Given the description of an element on the screen output the (x, y) to click on. 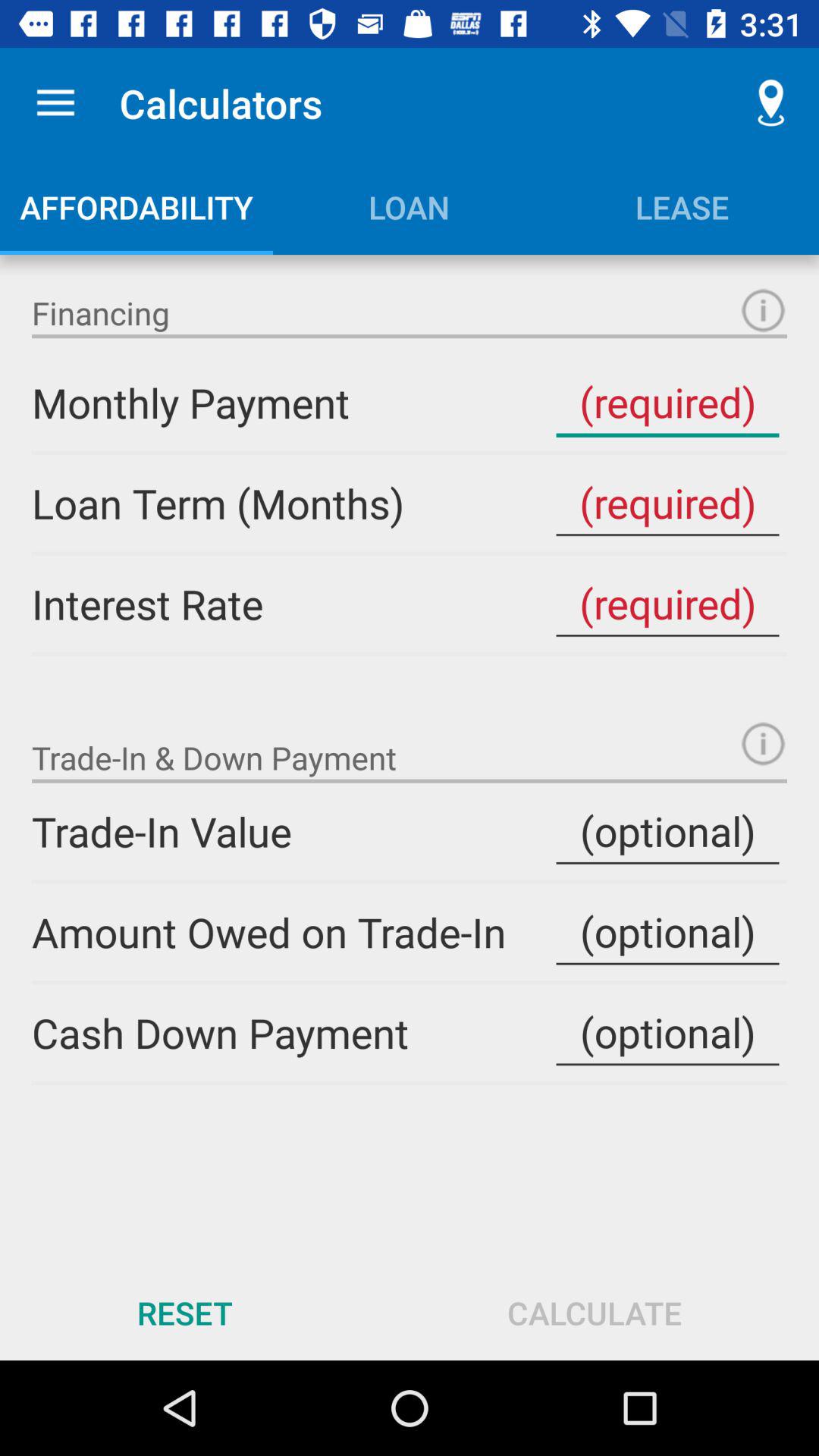
open the calculate (594, 1312)
